Given the description of an element on the screen output the (x, y) to click on. 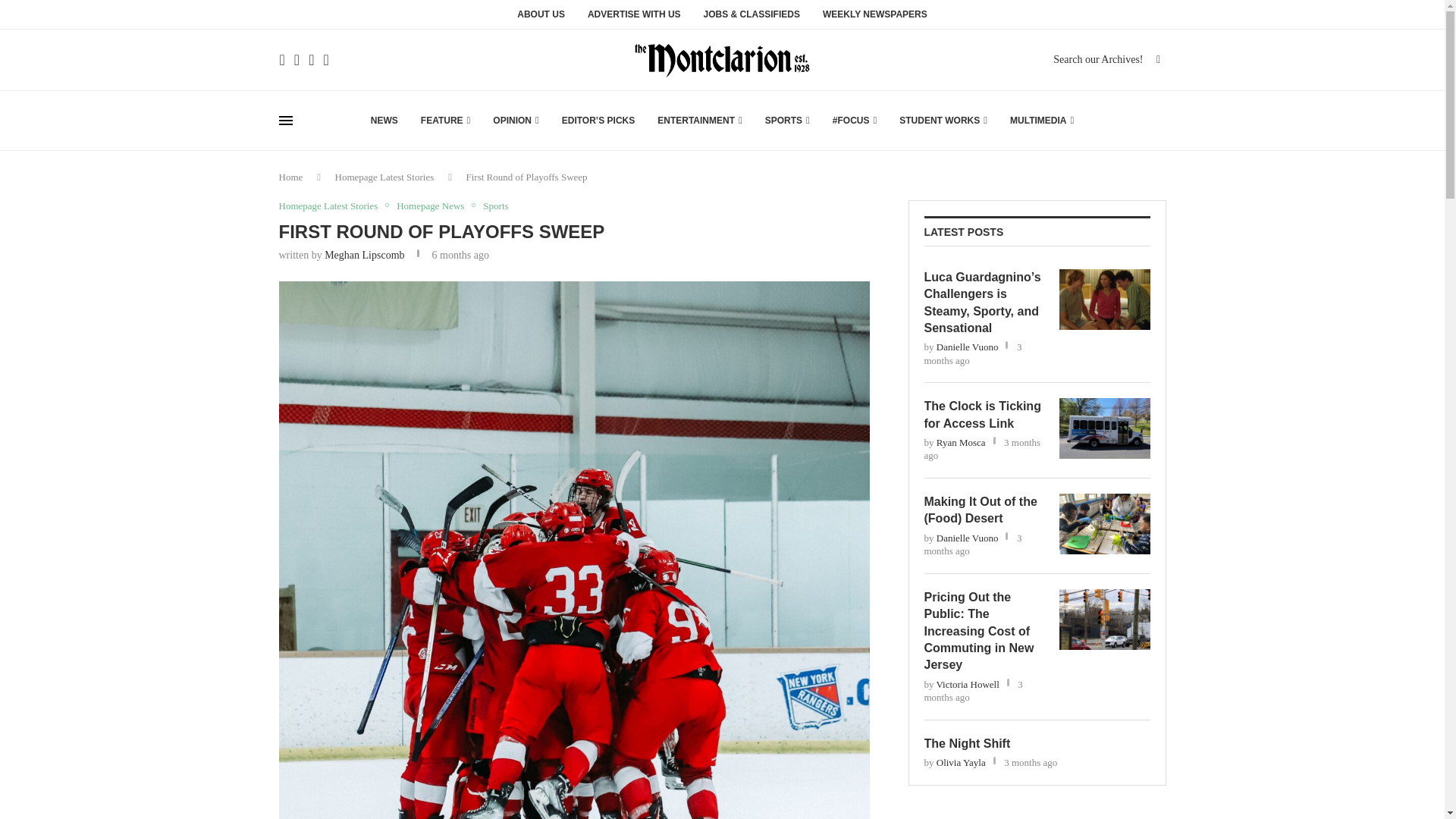
OPINION (515, 120)
The Clock is Ticking for Access Link (1104, 428)
Meghan Lipscomb (364, 255)
ABOUT US (540, 18)
ENTERTAINMENT (700, 120)
ADVERTISE WITH US (634, 18)
The Clock is Ticking for Access Link (983, 415)
SPORTS (787, 120)
FEATURE (445, 120)
WEEKLY NEWSPAPERS (874, 18)
